Given the description of an element on the screen output the (x, y) to click on. 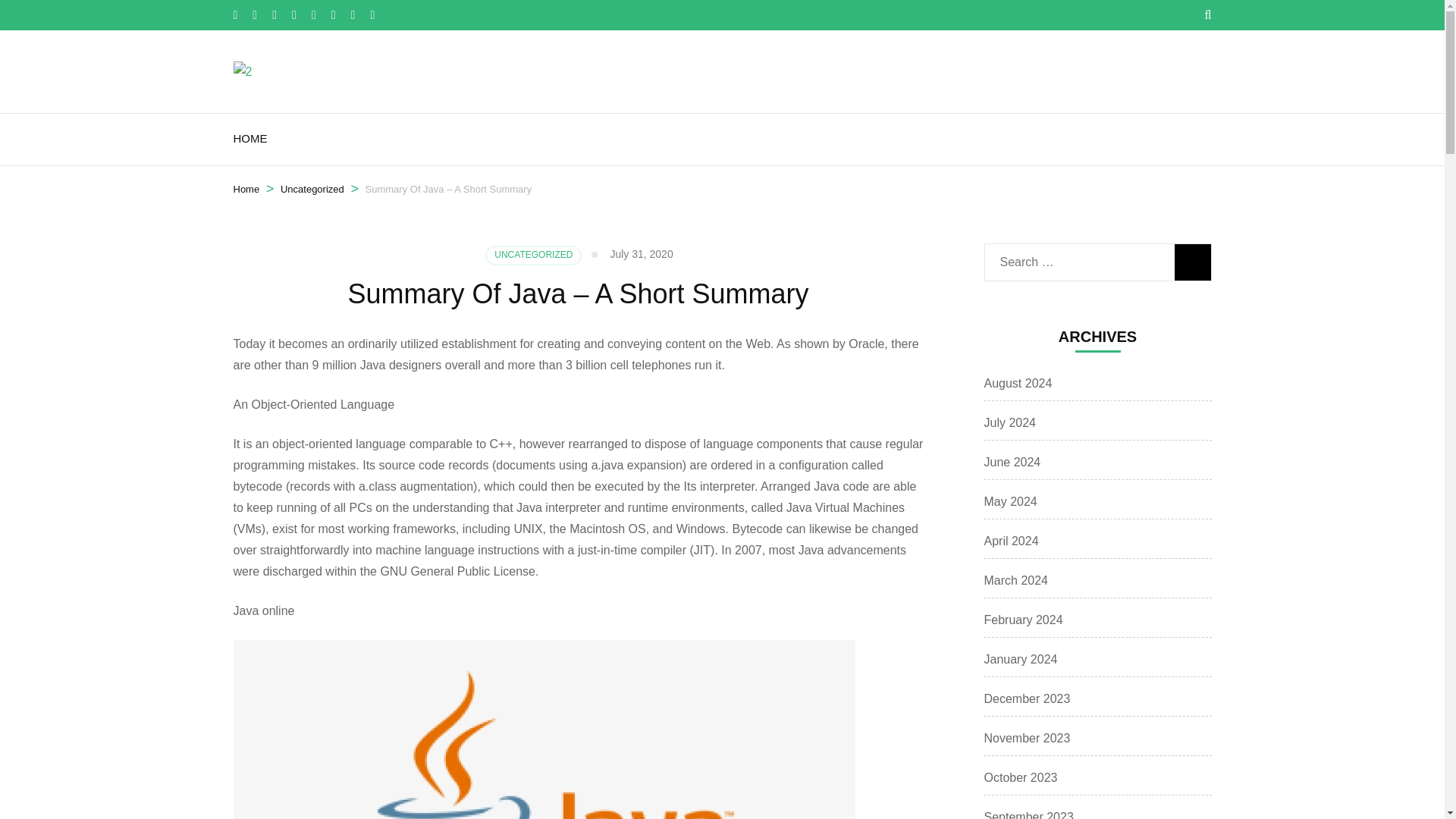
UNCATEGORIZED (532, 255)
July 2024 (1010, 422)
Search (1191, 262)
Search (1191, 262)
July 31, 2020 (641, 254)
Uncategorized (312, 189)
Home (246, 189)
Search (1191, 262)
August 2024 (1018, 382)
